Given the description of an element on the screen output the (x, y) to click on. 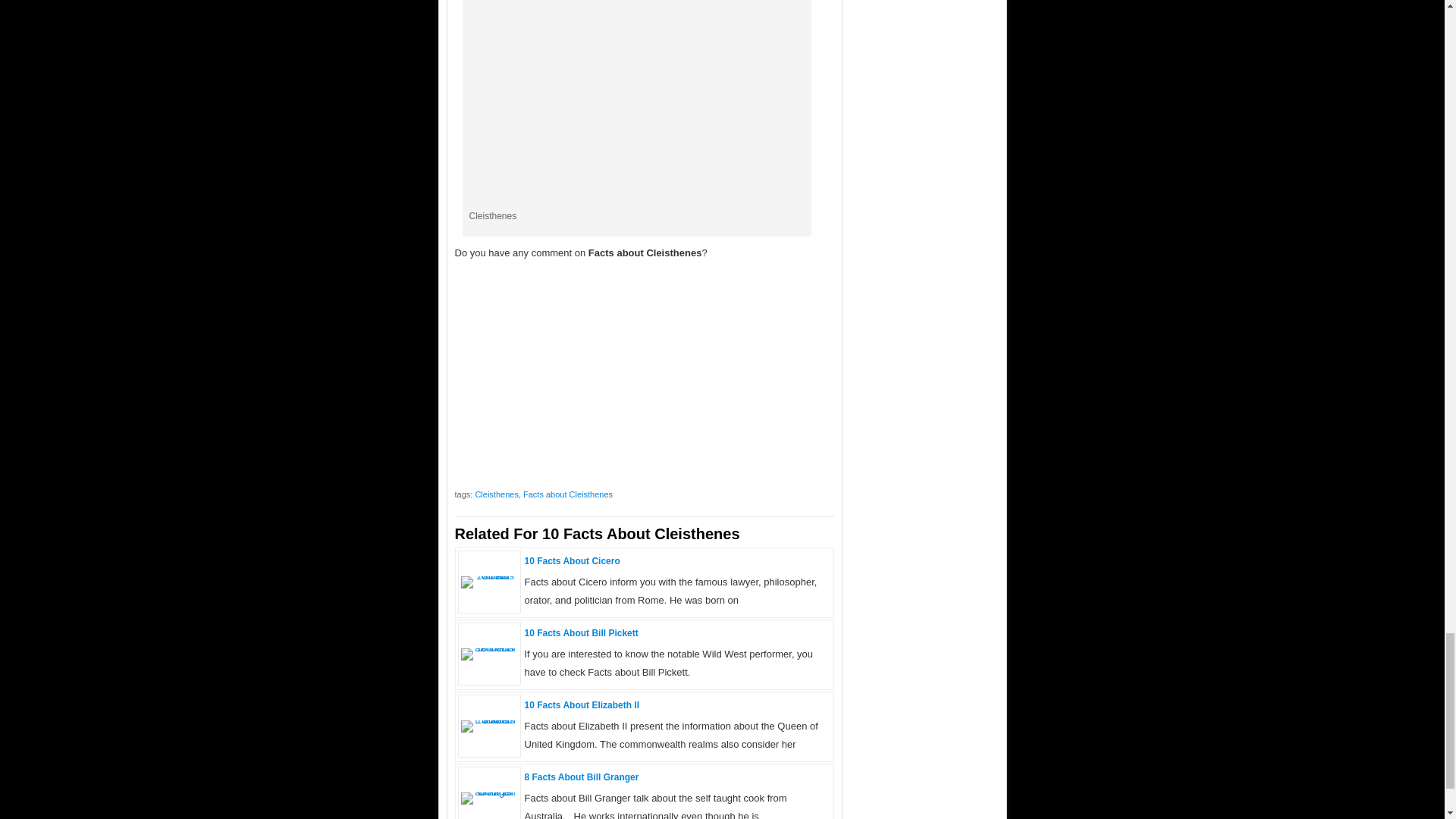
10 Facts about Cicero (572, 561)
10 Facts About Bill Pickett (581, 633)
Facts about Cleisthenes (567, 493)
10 Facts about Cicero (489, 575)
10 Facts About Elizabeth II (582, 705)
10 Facts About Cicero (572, 561)
8 Facts about Bill Granger (489, 790)
Cleisthenes (496, 493)
10 Facts about Elizabeth II (489, 719)
10 Facts about Elizabeth II (582, 705)
